Given the description of an element on the screen output the (x, y) to click on. 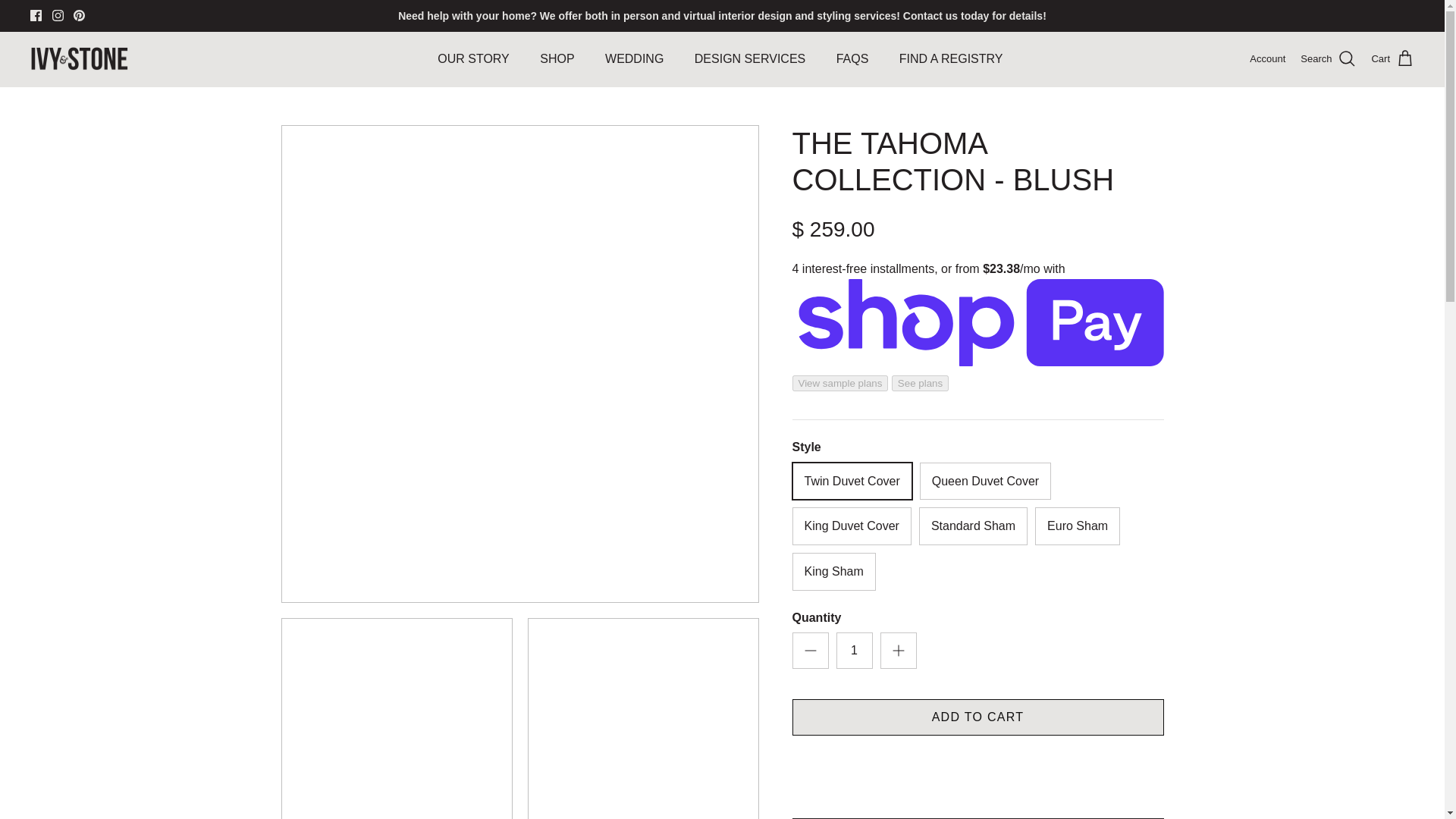
Instagram (58, 15)
Cart (1392, 58)
SHOP (556, 59)
FIND A REGISTRY (950, 59)
Plus (897, 650)
OUR STORY (472, 59)
1 (853, 650)
Pinterest (79, 15)
WEDDING (634, 59)
Pinterest (79, 15)
Search (1327, 58)
Account (1267, 59)
Instagram (58, 15)
Minus (809, 650)
FAQS (852, 59)
